Given the description of an element on the screen output the (x, y) to click on. 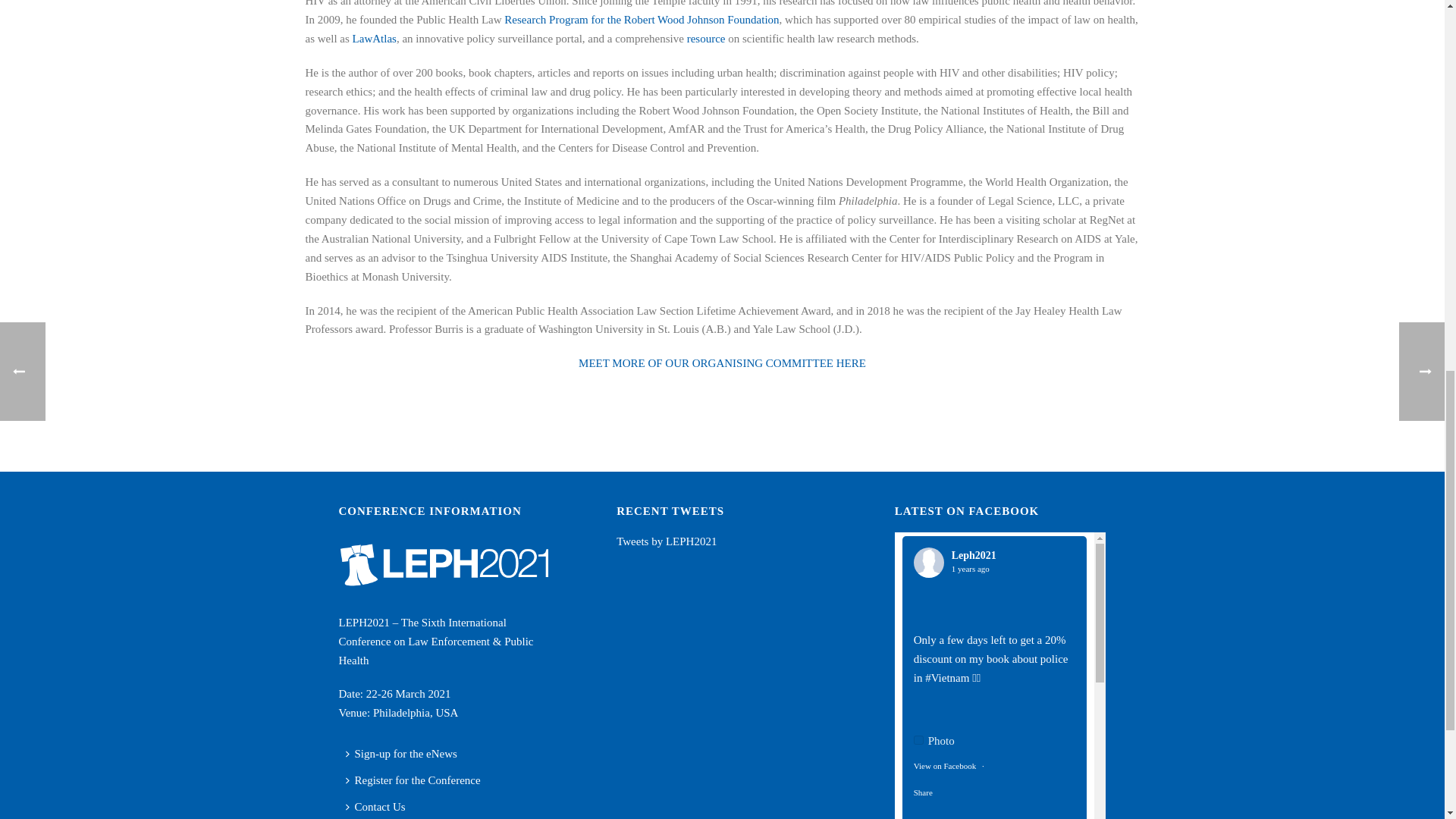
Share (923, 791)
View on Facebook (944, 765)
